Given the description of an element on the screen output the (x, y) to click on. 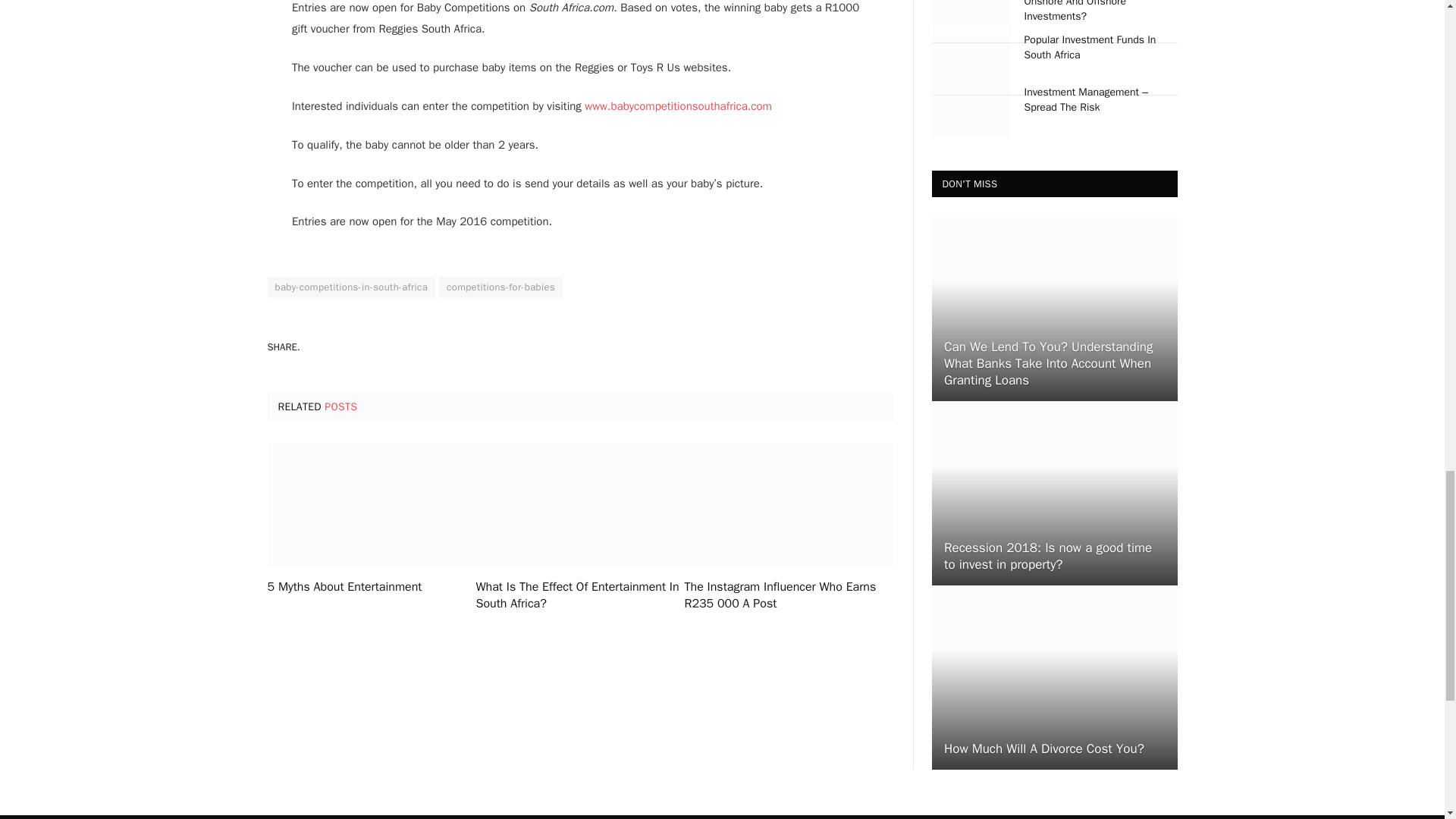
Facebook (601, 346)
Twitter (654, 346)
www.babycompetitionsouthafrica.com (678, 106)
competitions-for-babies (500, 287)
baby-competitions-in-south-africa (350, 287)
